Given the description of an element on the screen output the (x, y) to click on. 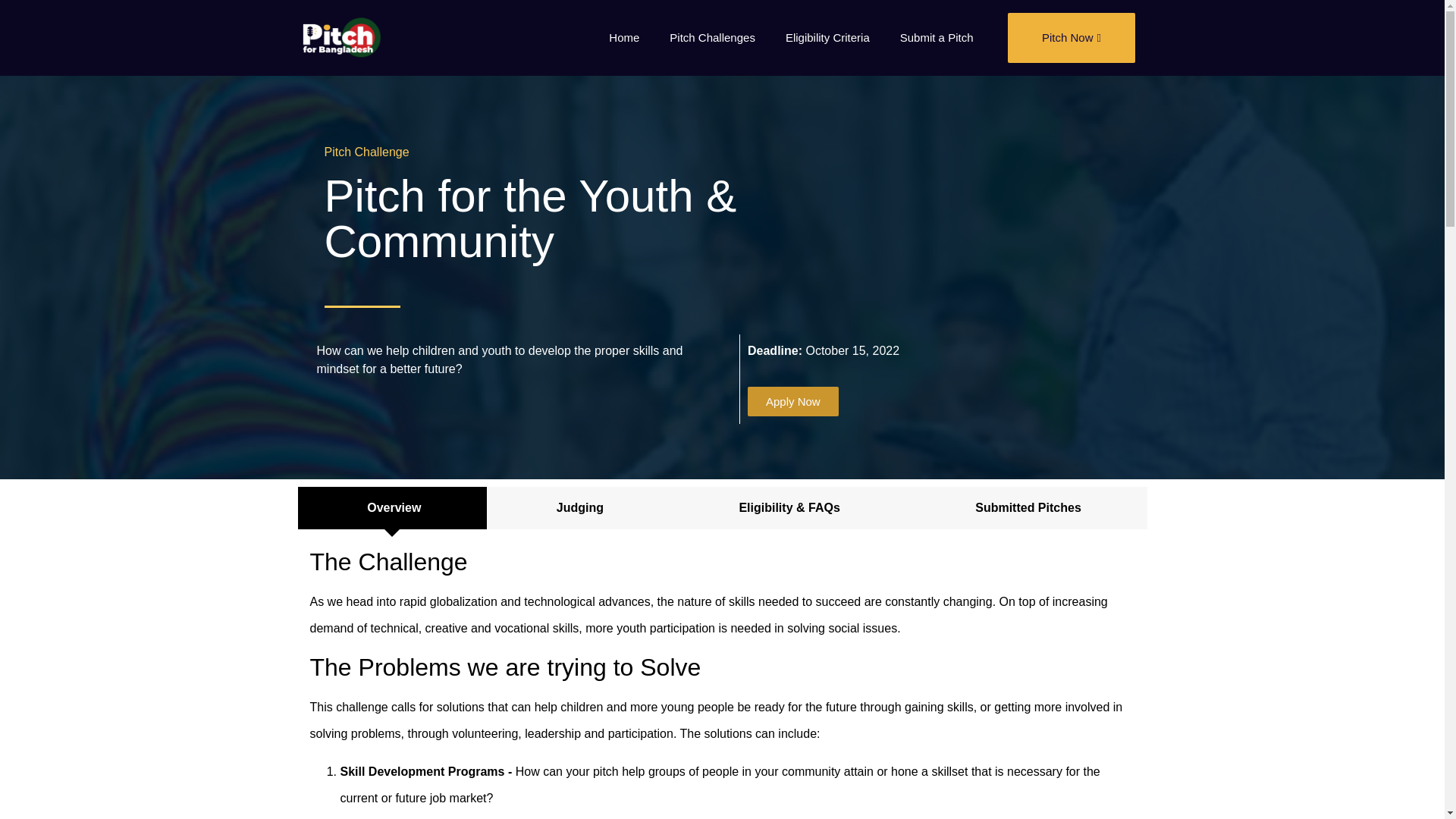
Eligibility Criteria (827, 38)
pitch4bd rev logo-03 (341, 37)
Pitch Challenges (711, 38)
Submit a Pitch (936, 38)
Pitch Now (1071, 38)
Apply Now (793, 401)
